Given the description of an element on the screen output the (x, y) to click on. 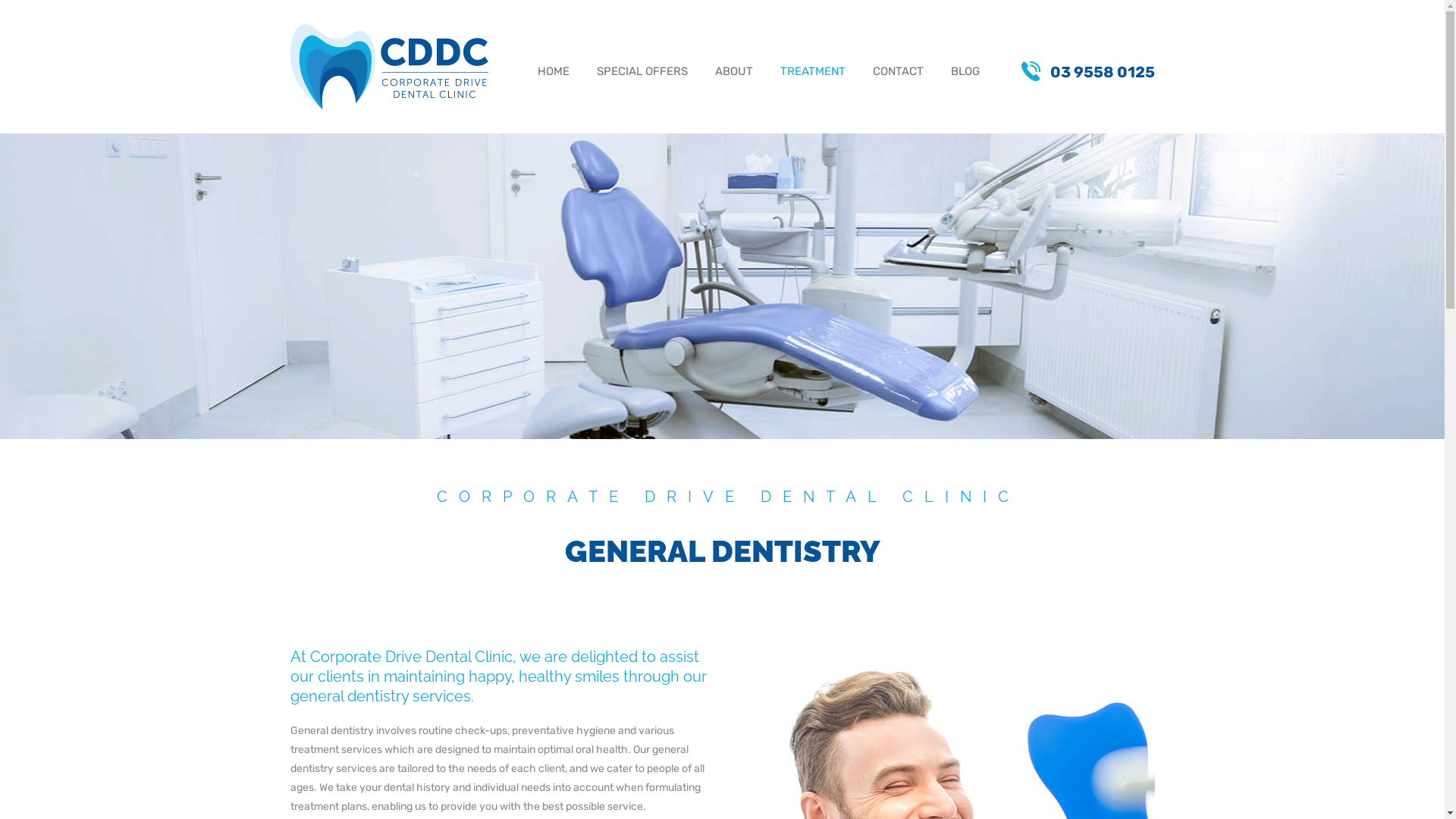
SPECIAL OFFERS Element type: text (641, 73)
BLOG Element type: text (964, 73)
HOME Element type: text (552, 73)
ABOUT Element type: text (733, 73)
CONTACT Element type: text (897, 73)
TREATMENT Element type: text (811, 73)
03 9558 0125 Element type: text (1078, 71)
